Given the description of an element on the screen output the (x, y) to click on. 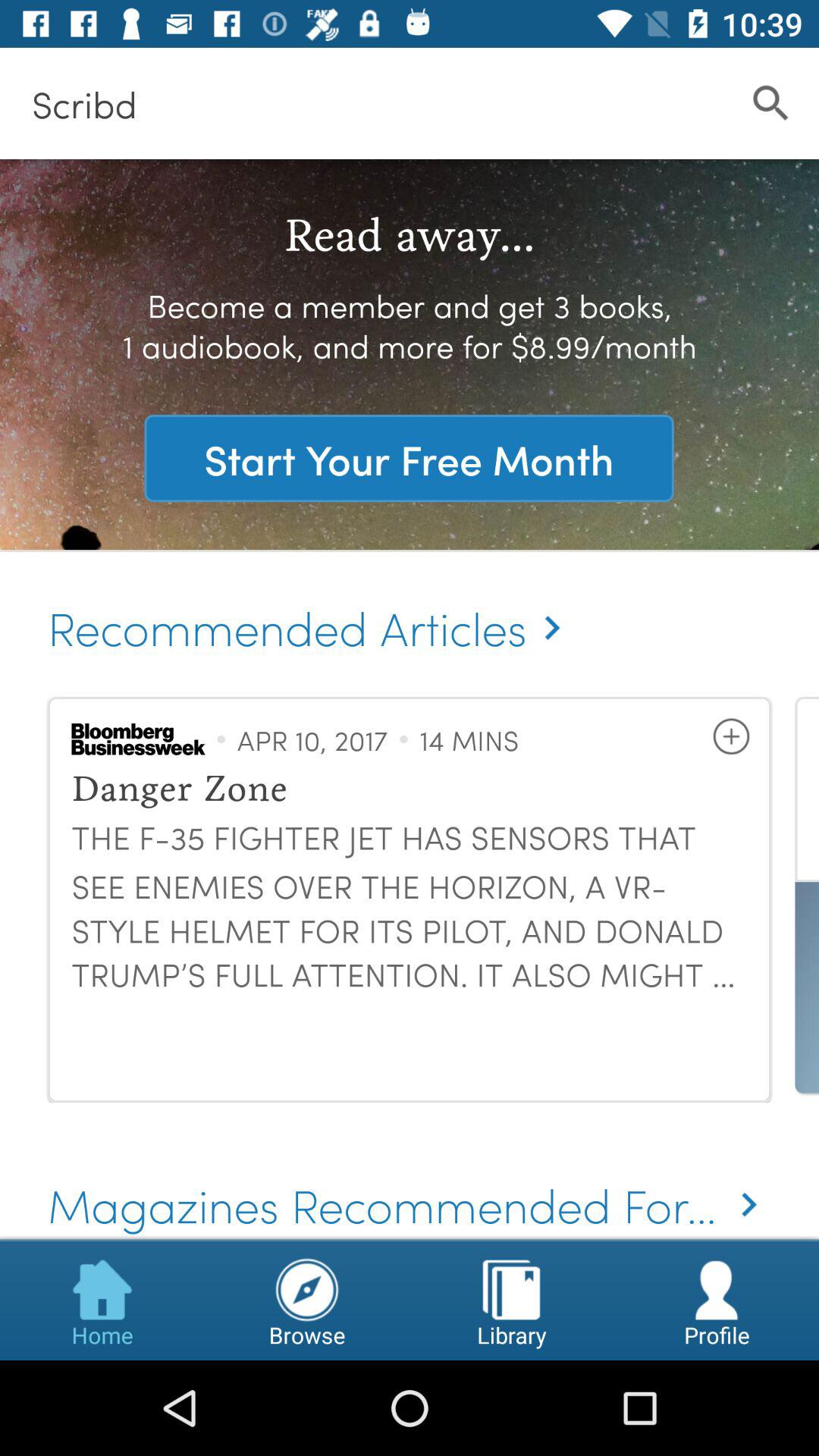
launch icon to the right of the scribd icon (771, 103)
